Given the description of an element on the screen output the (x, y) to click on. 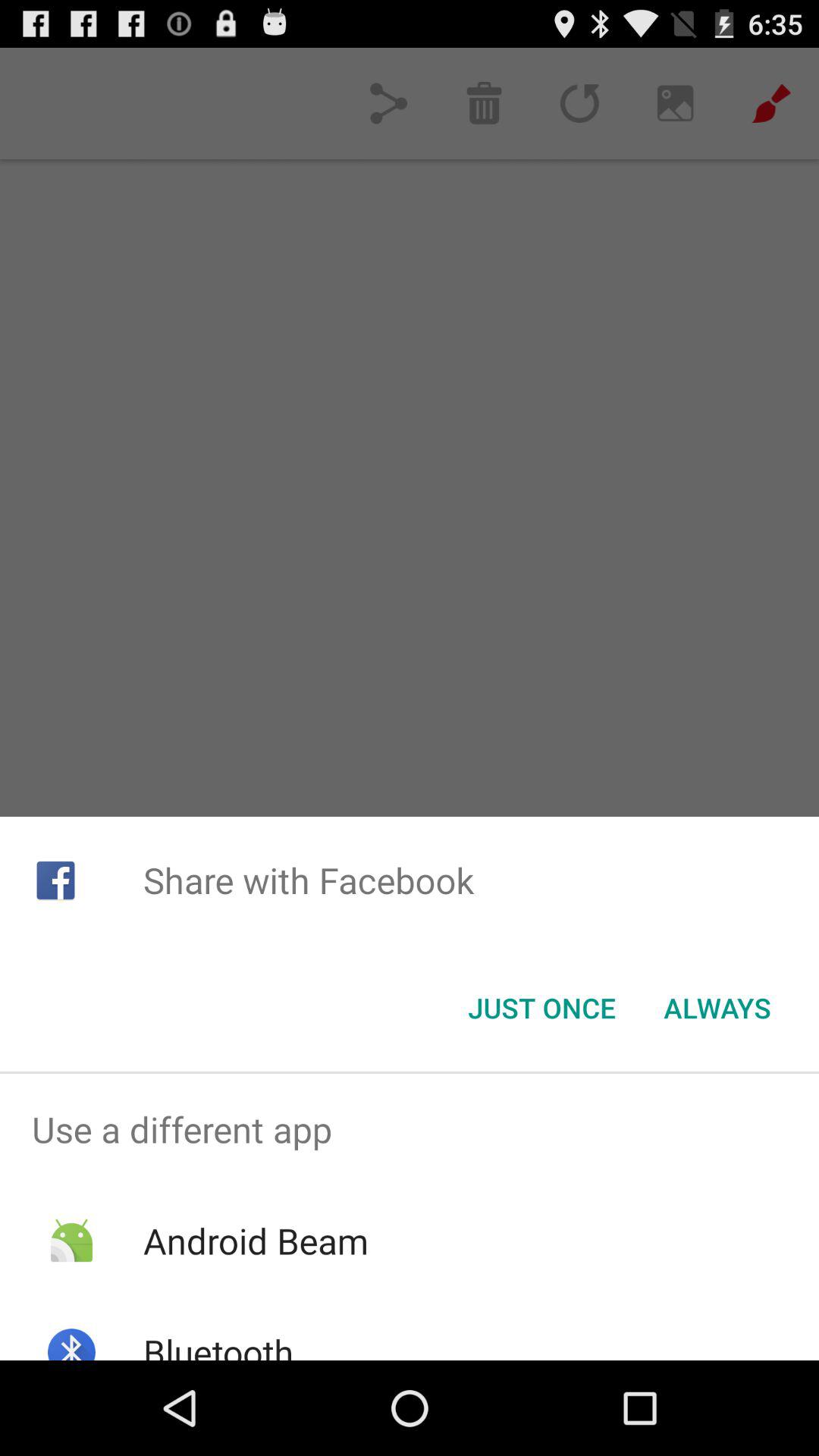
swipe until android beam app (255, 1240)
